Given the description of an element on the screen output the (x, y) to click on. 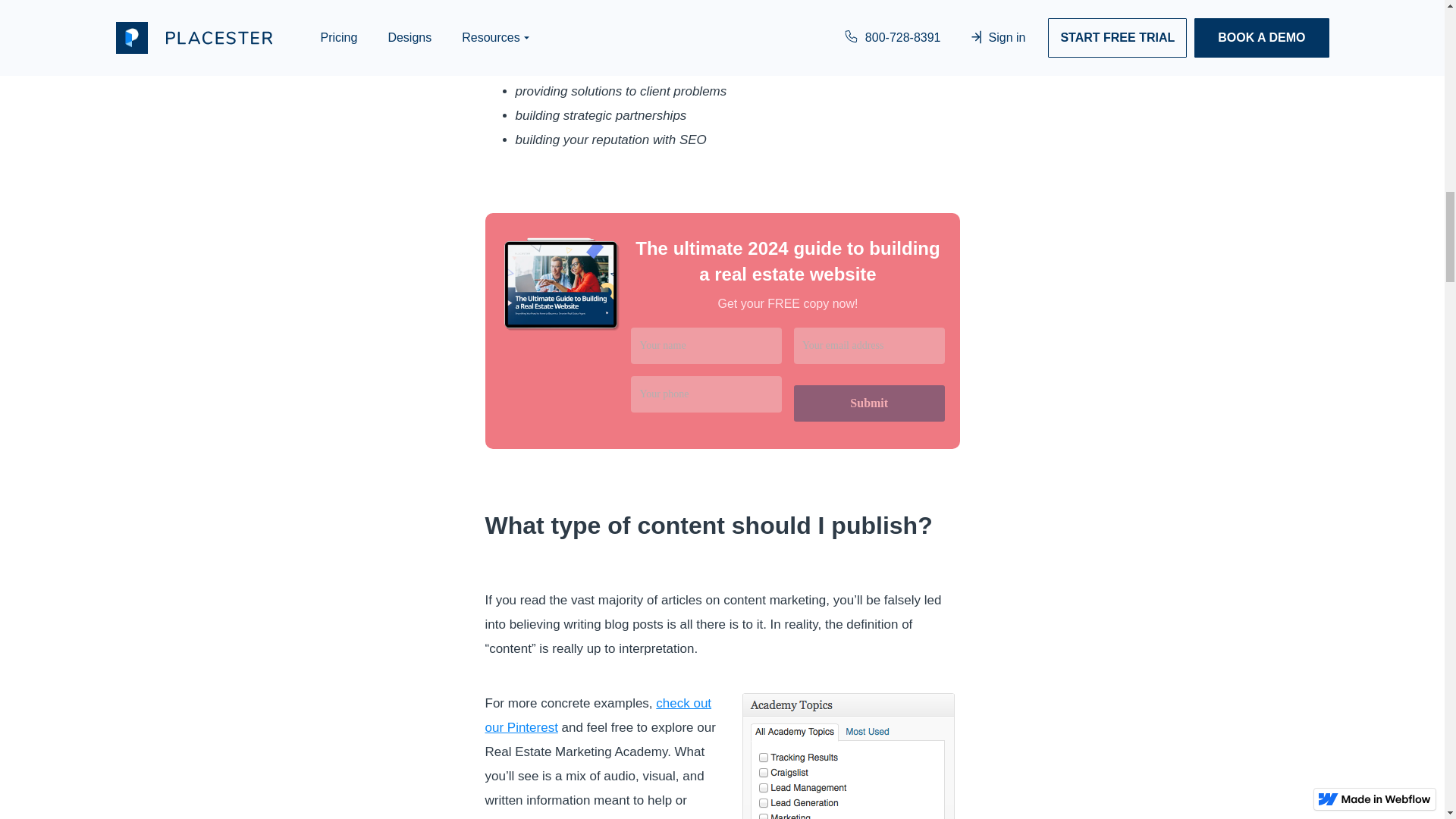
check out our Pinterest (597, 715)
Submit (868, 402)
